Given the description of an element on the screen output the (x, y) to click on. 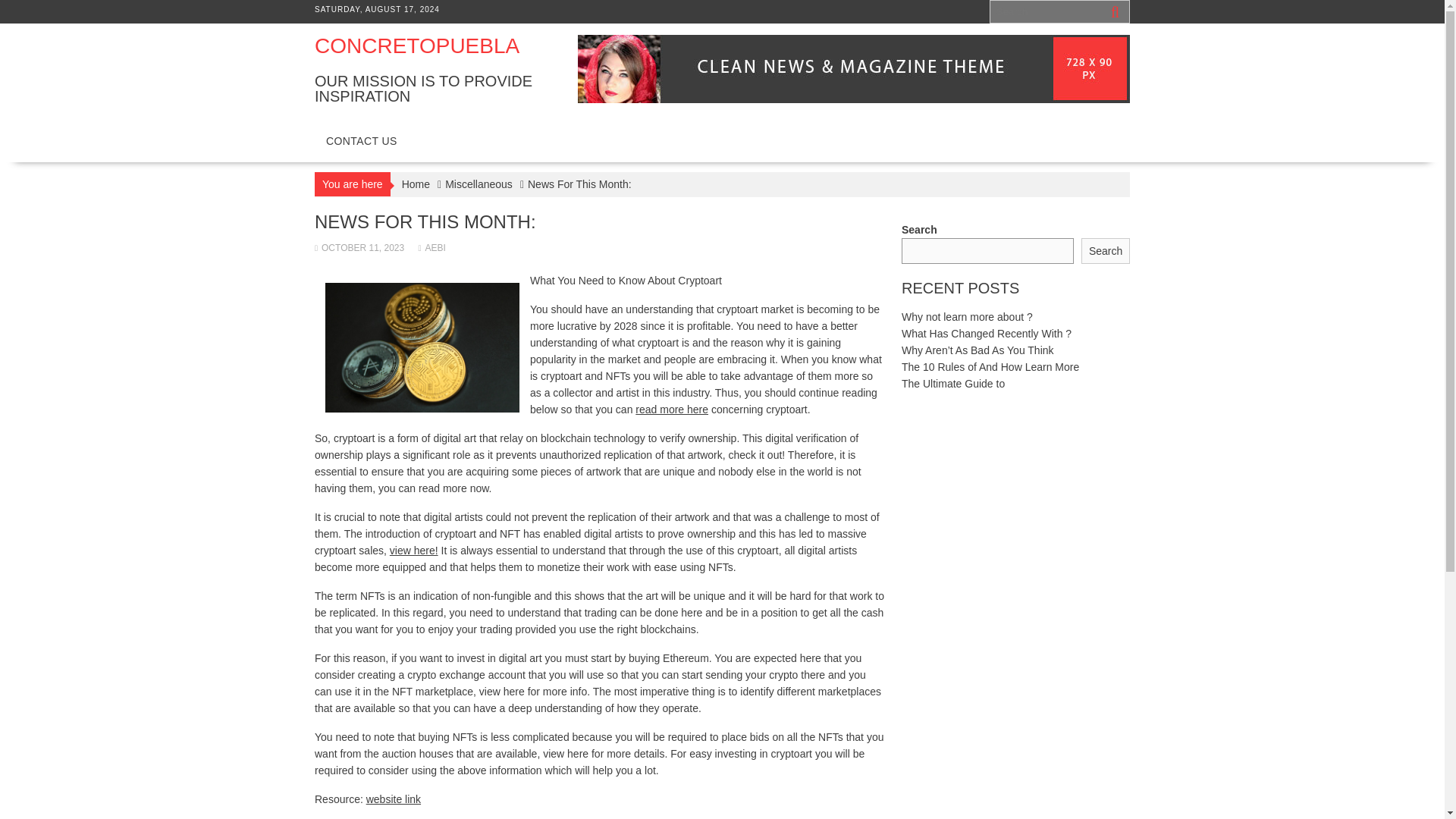
AEBI (432, 247)
Why not learn more about ? (966, 316)
website link (393, 799)
The Ultimate Guide to (952, 383)
CONTACT US (361, 140)
What Has Changed Recently With ? (986, 333)
The 10 Rules of And How Learn More (989, 367)
Search (1105, 251)
Miscellaneous (478, 184)
read more here (670, 409)
